Given the description of an element on the screen output the (x, y) to click on. 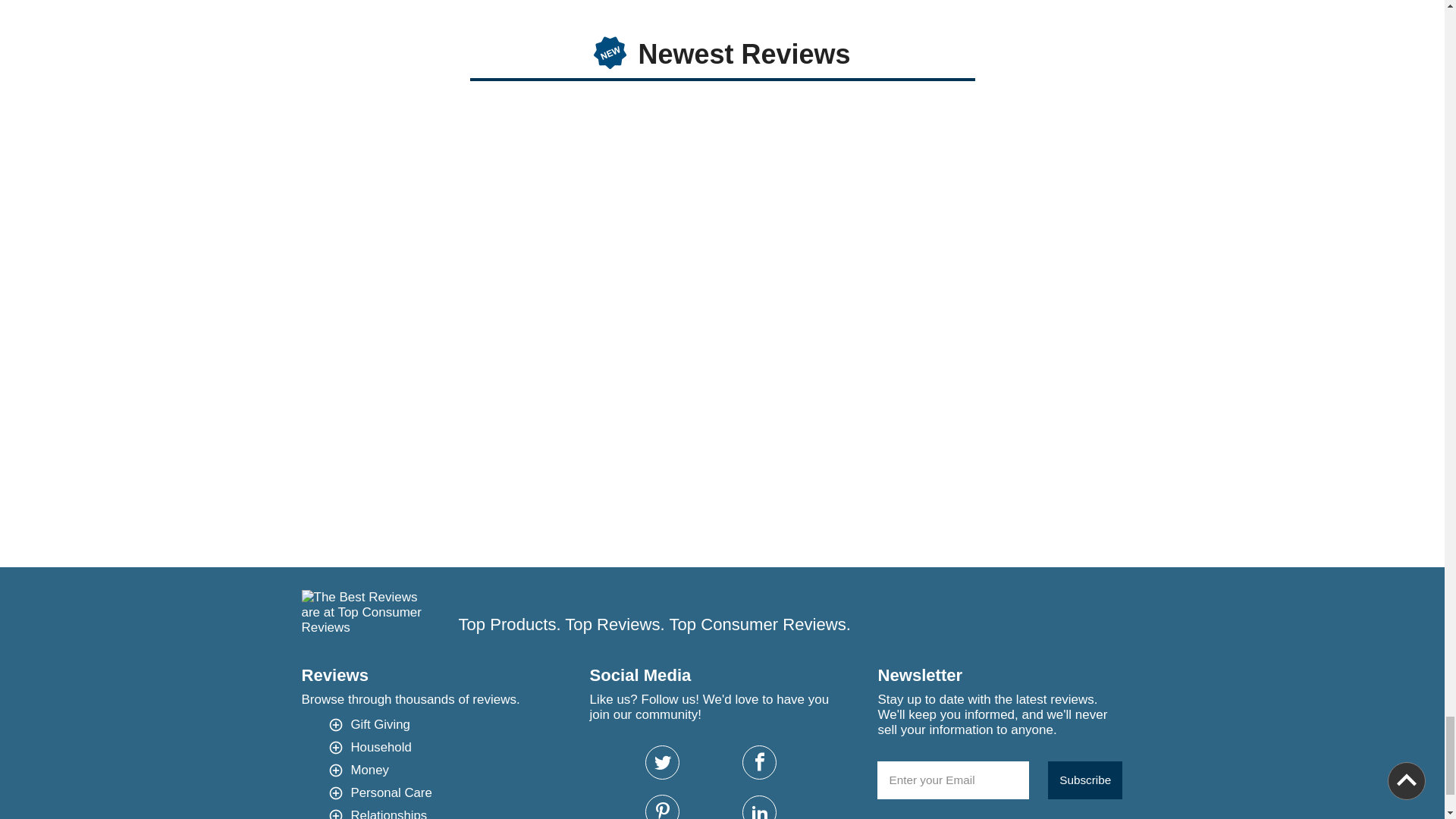
Visit Top Consumer Reviews on LinkedIn (759, 807)
Visit Top Consumer Reviews on Facebook (759, 762)
Visit Top Consumer Reviews on Pinterest (662, 806)
Visit Top Consumer Reviews on Twitter (662, 762)
